Given the description of an element on the screen output the (x, y) to click on. 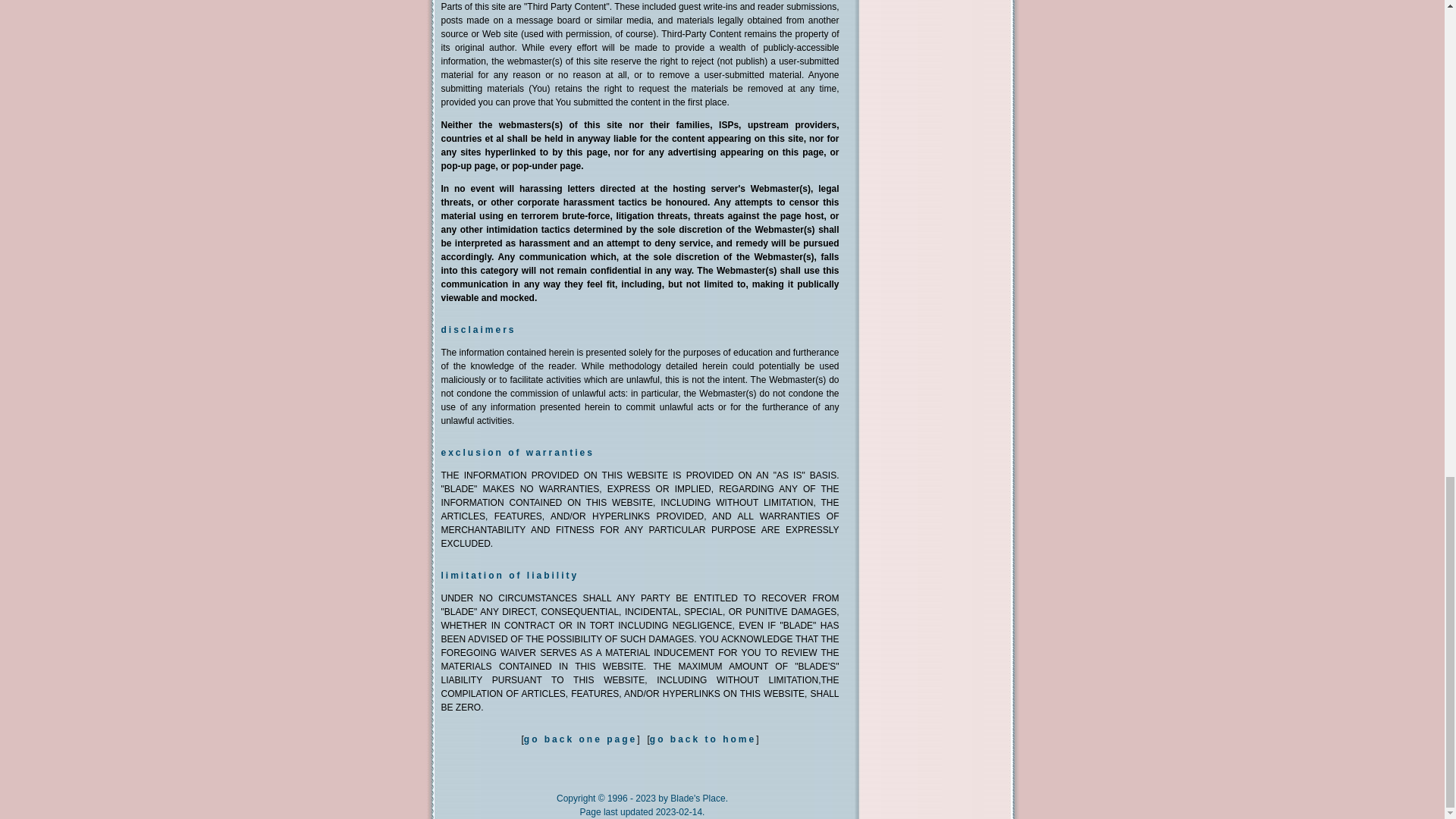
go back to home (702, 738)
go back one page (580, 738)
